Given the description of an element on the screen output the (x, y) to click on. 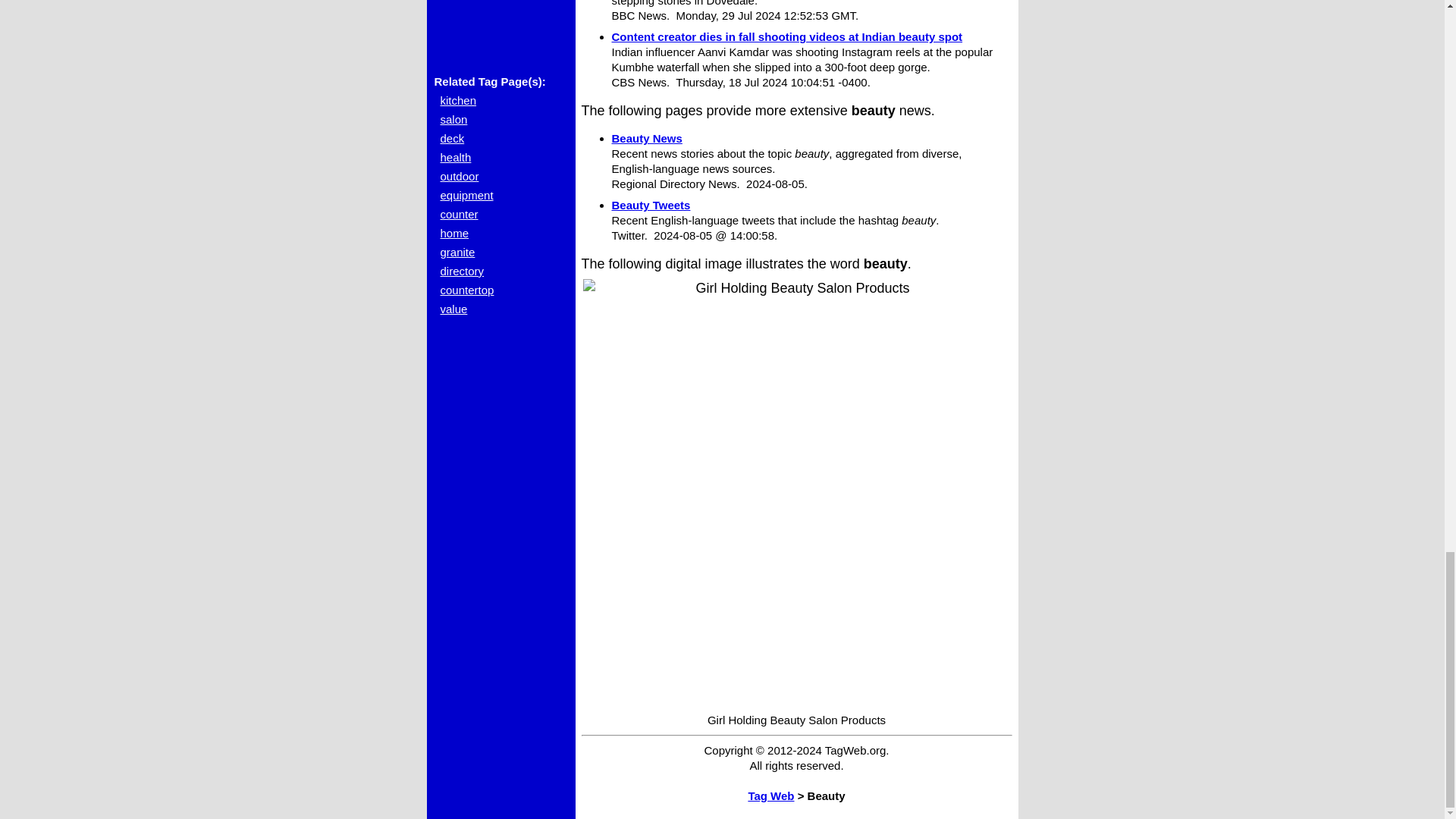
Tag Web (770, 795)
Beauty News (646, 137)
Beauty Tweets (650, 205)
